Given the description of an element on the screen output the (x, y) to click on. 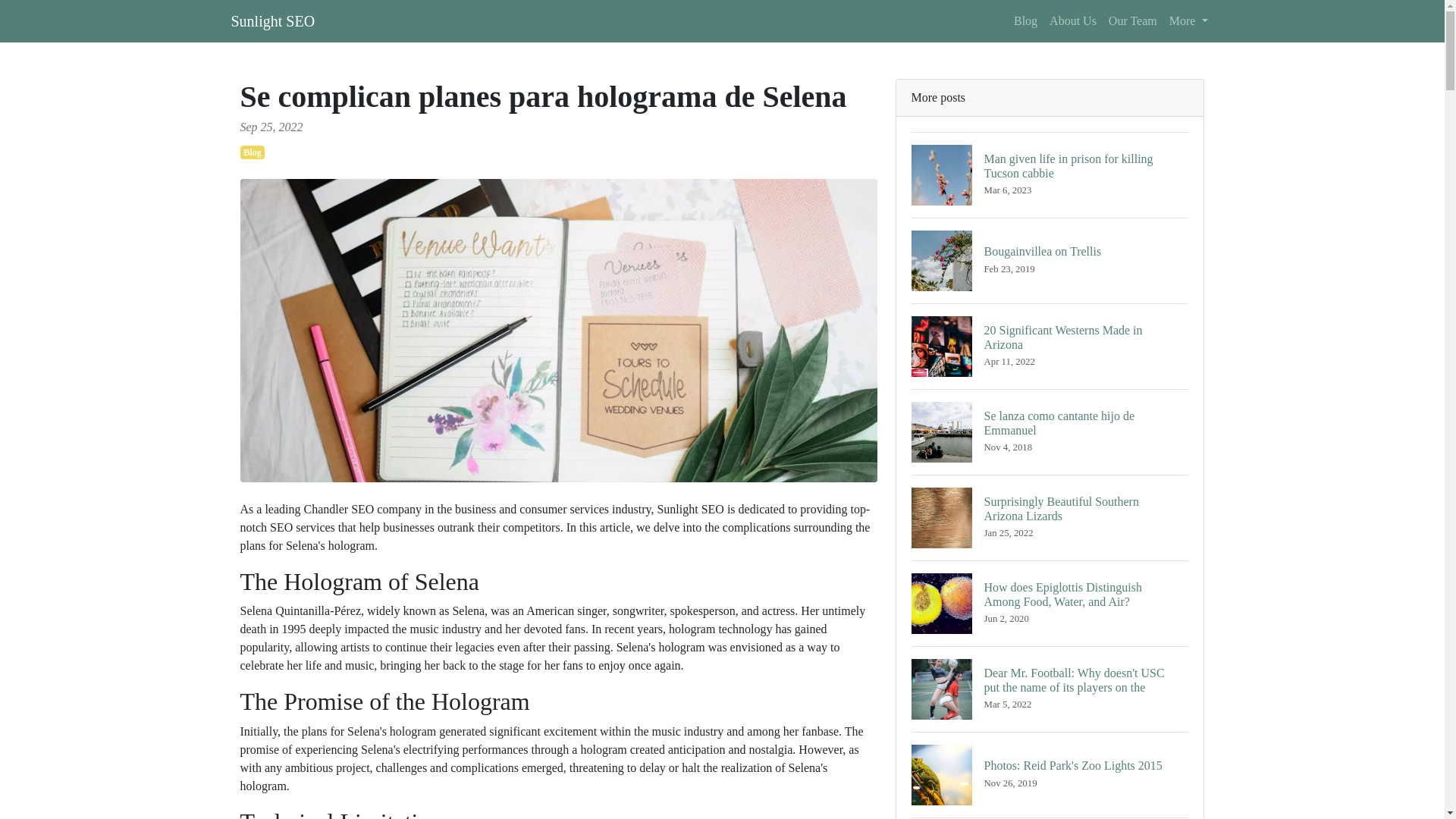
About Us (1050, 432)
Blog (1050, 774)
Our Team (1050, 260)
Blog (1072, 20)
More (252, 151)
